Given the description of an element on the screen output the (x, y) to click on. 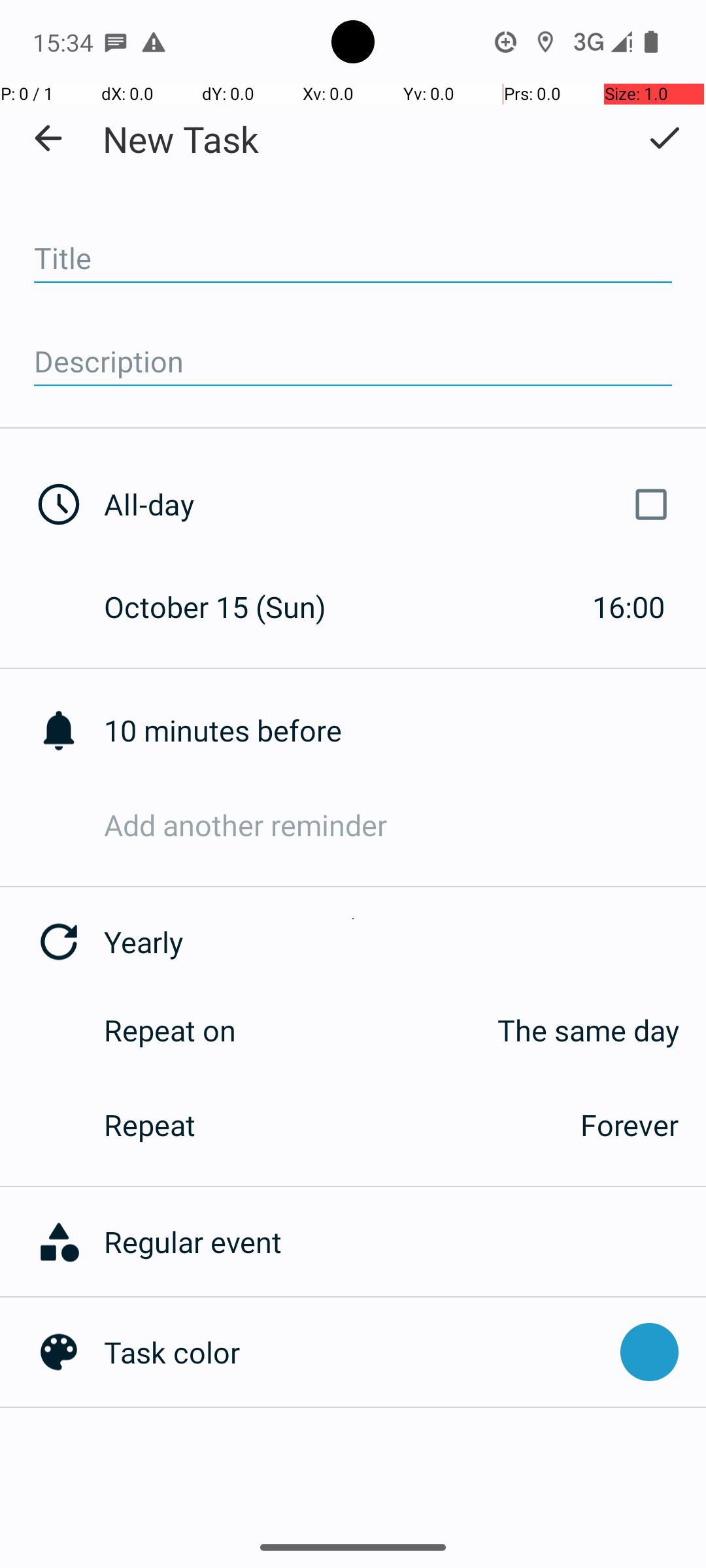
New Task Element type: android.widget.TextView (180, 138)
10 minutes before Element type: android.widget.TextView (404, 729)
Add another reminder Element type: android.widget.TextView (404, 824)
Yearly Element type: android.widget.TextView (404, 941)
Repeat on Element type: android.widget.TextView (169, 1029)
The same day Element type: android.widget.TextView (470, 1029)
Repeat Element type: android.widget.TextView (328, 1124)
Forever Element type: android.widget.TextView (629, 1124)
Task color Element type: android.widget.TextView (354, 1351)
